Given the description of an element on the screen output the (x, y) to click on. 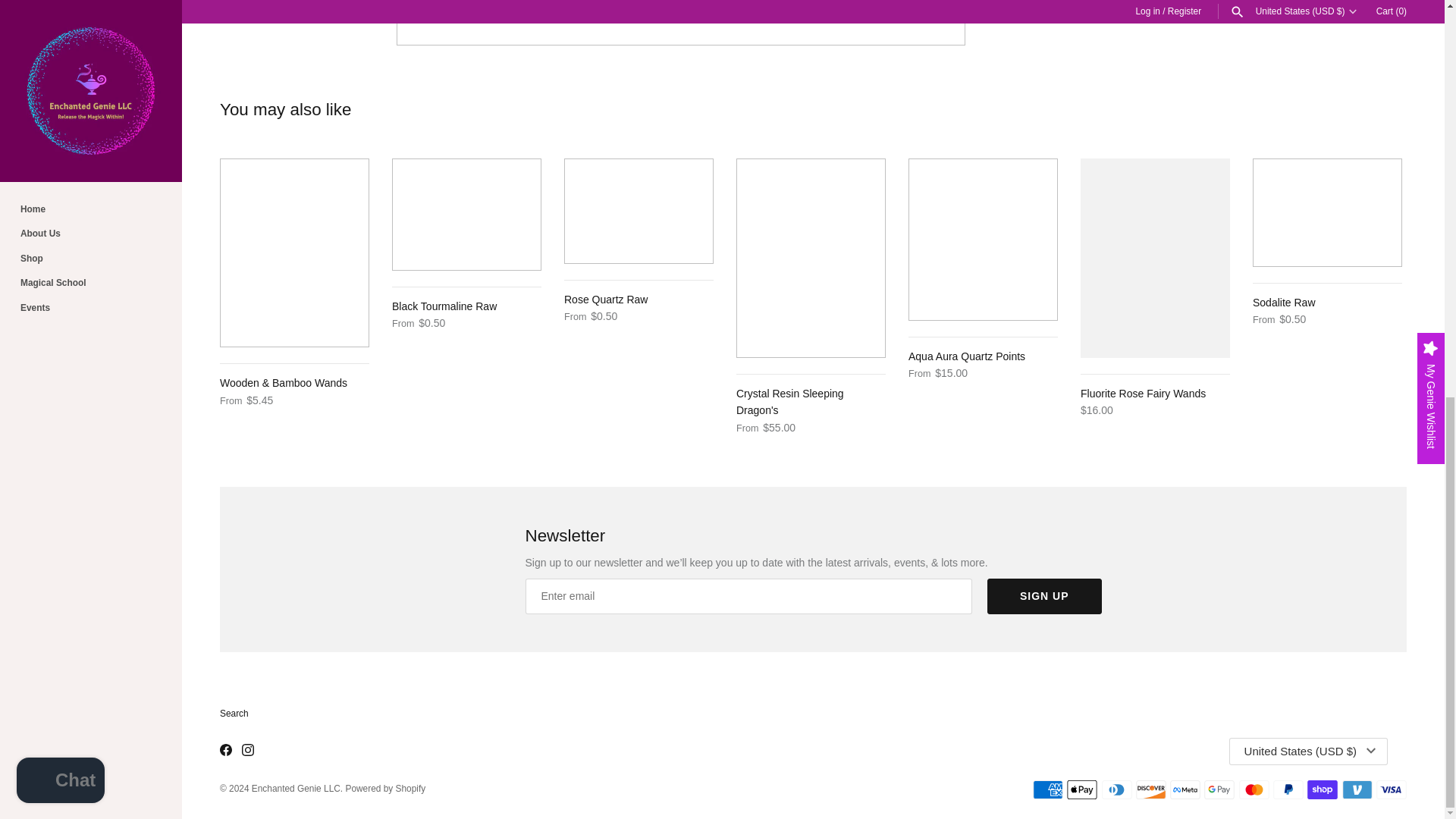
Aqua Aura Quartz Points (983, 239)
Black Tourmaline Raw (466, 214)
American Express (1047, 789)
PayPal (1287, 789)
Meta Pay (1184, 789)
Shop Pay (1322, 789)
Google Pay (1219, 789)
Apple Pay (1082, 789)
Rose Quartz Raw (638, 210)
Diners Club (1115, 789)
